Given the description of an element on the screen output the (x, y) to click on. 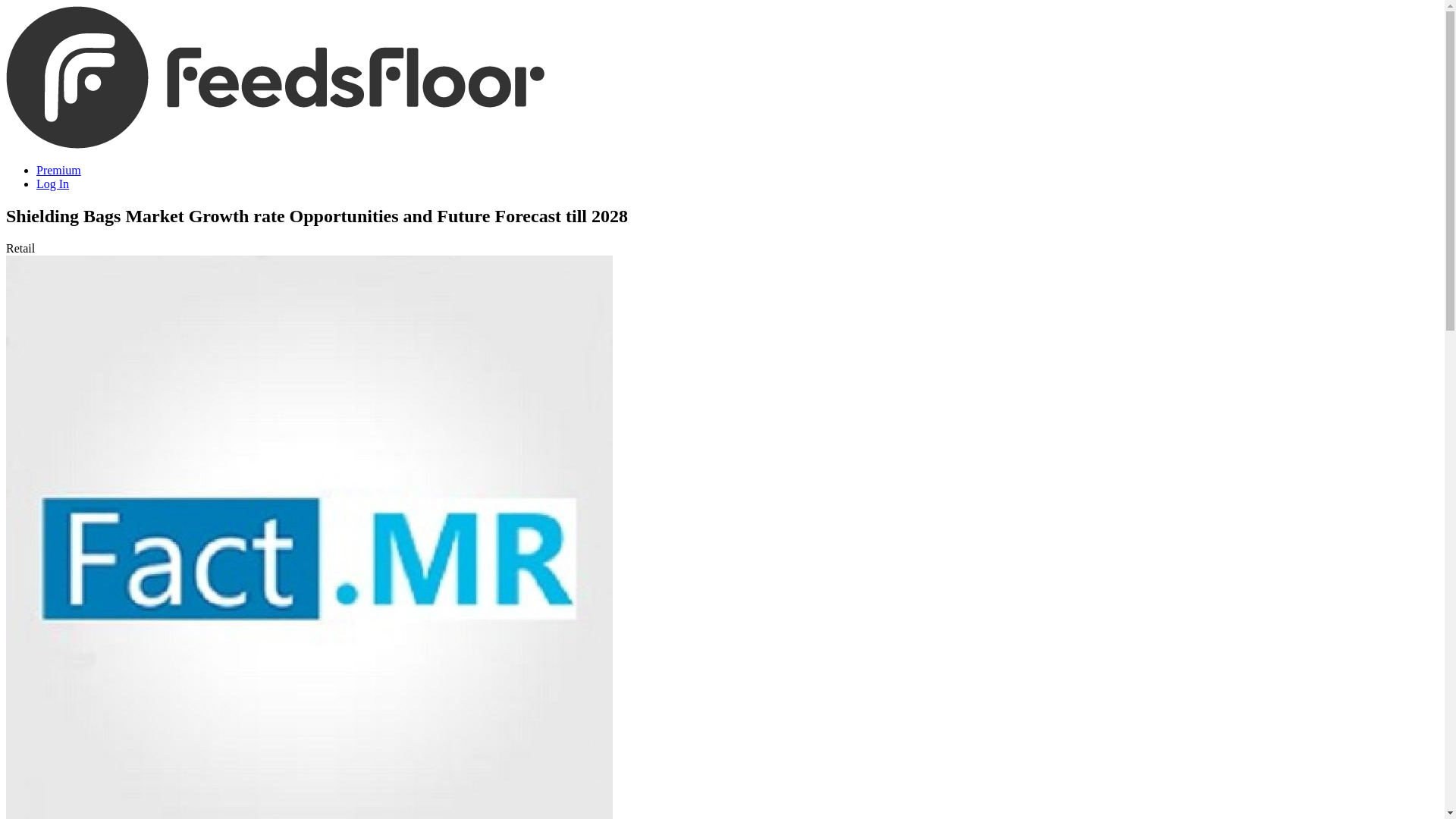
Premium (58, 169)
Log In (52, 183)
Home (274, 144)
